Given the description of an element on the screen output the (x, y) to click on. 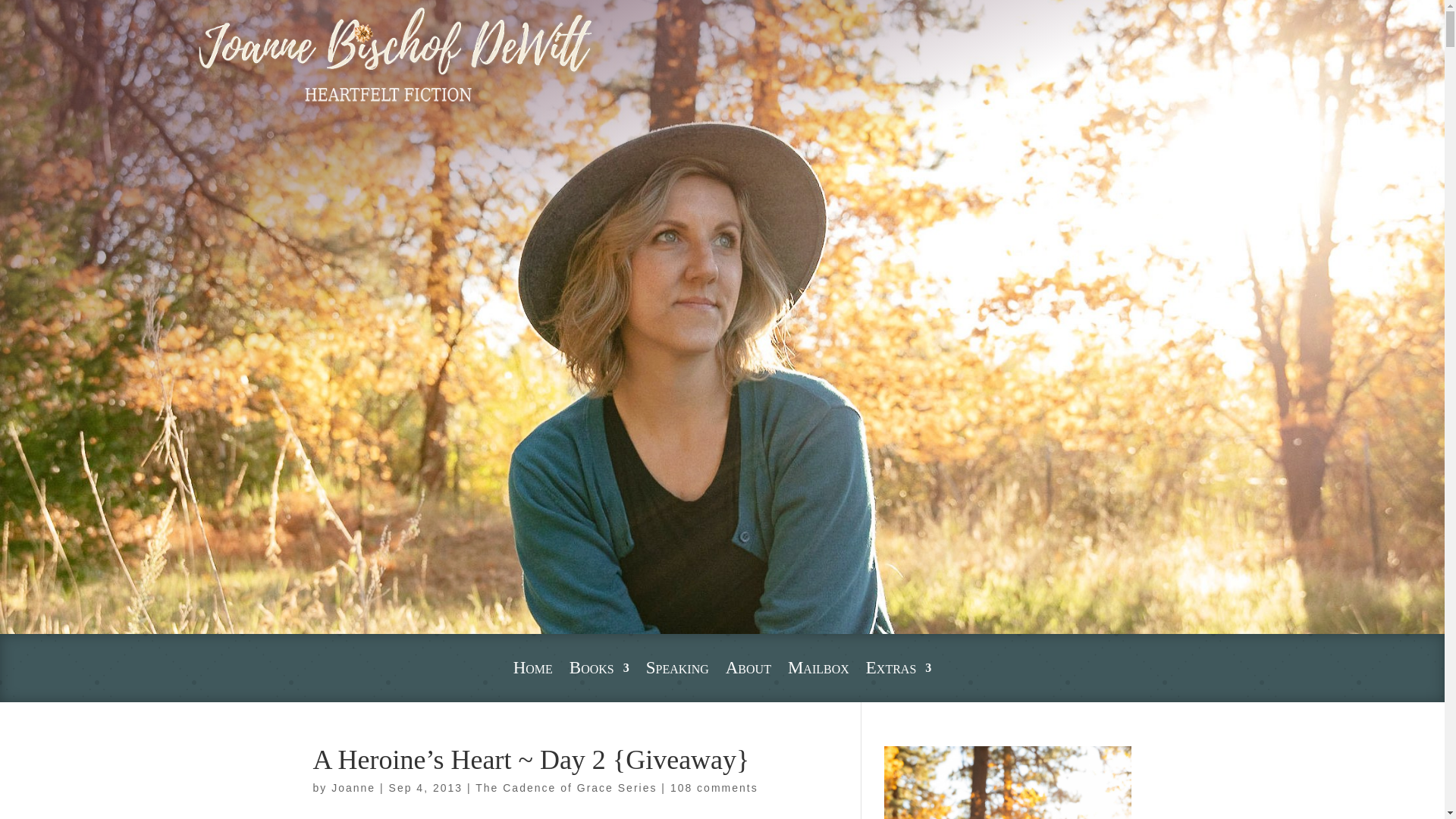
Joanne (353, 787)
Books (598, 670)
Posts by Joanne (353, 787)
bouquet2 (393, 56)
Extras (898, 670)
The Cadence of Grace Series (566, 787)
Mailbox (817, 670)
Speaking (677, 670)
Home (533, 670)
108 comments (713, 787)
